Given the description of an element on the screen output the (x, y) to click on. 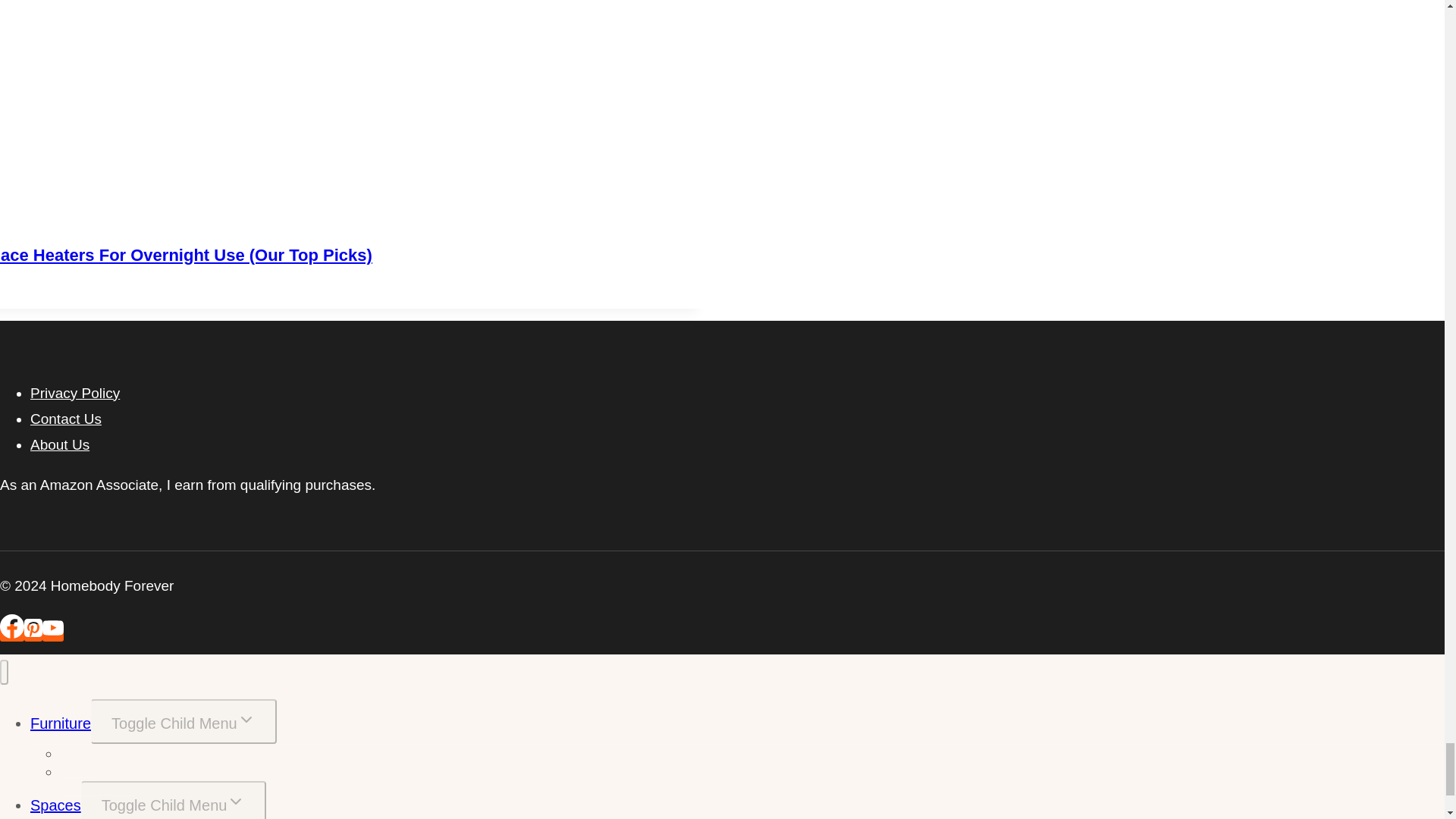
Expand (246, 719)
Facebook (12, 626)
YouTube (53, 627)
Expand (235, 801)
